Given the description of an element on the screen output the (x, y) to click on. 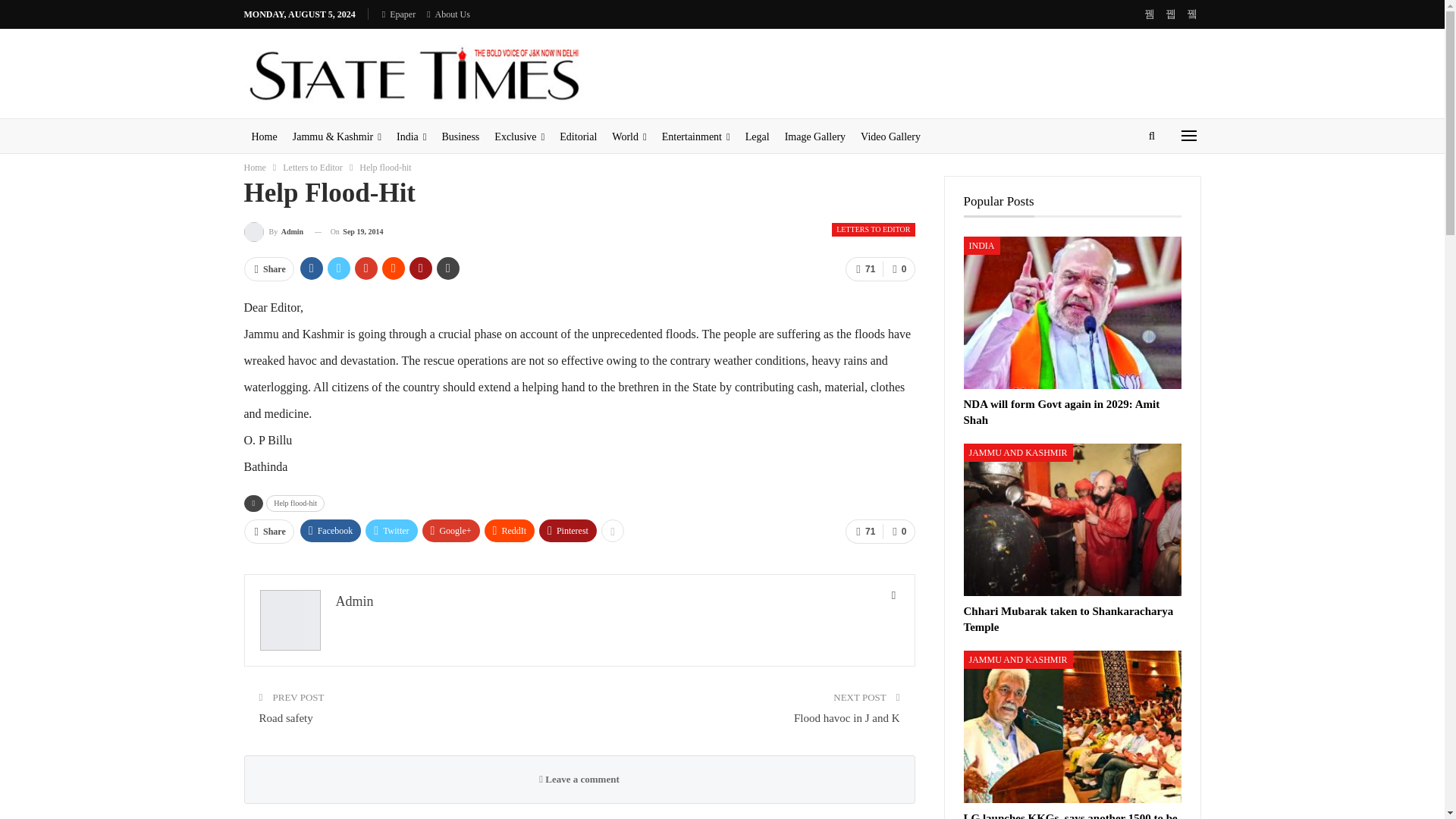
Epaper (397, 14)
